Given the description of an element on the screen output the (x, y) to click on. 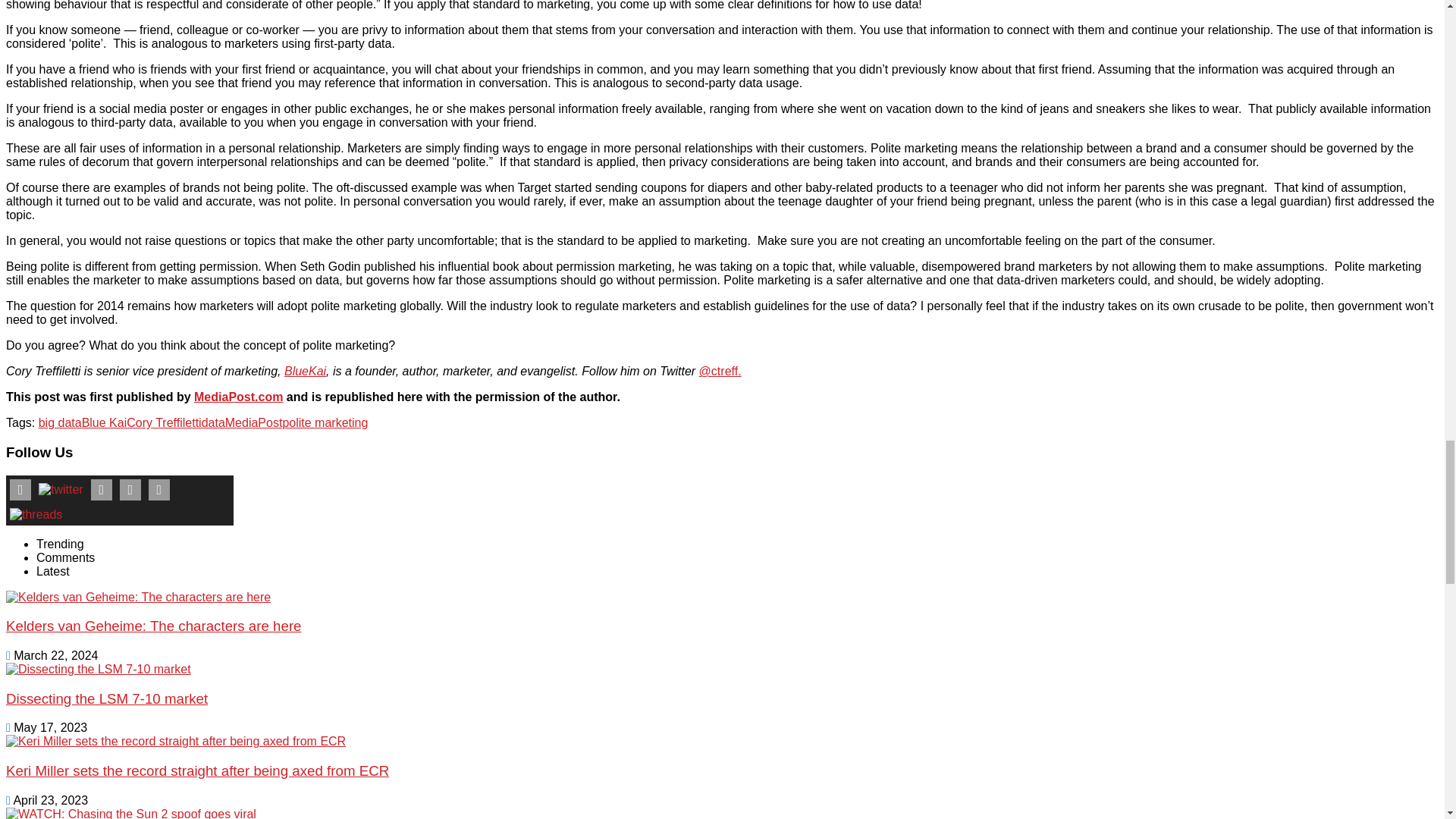
twitter (60, 489)
facebook (20, 489)
youtube (101, 489)
pinterest (130, 489)
threads (35, 513)
threads (36, 514)
instagram (159, 489)
twitter (60, 489)
